Given the description of an element on the screen output the (x, y) to click on. 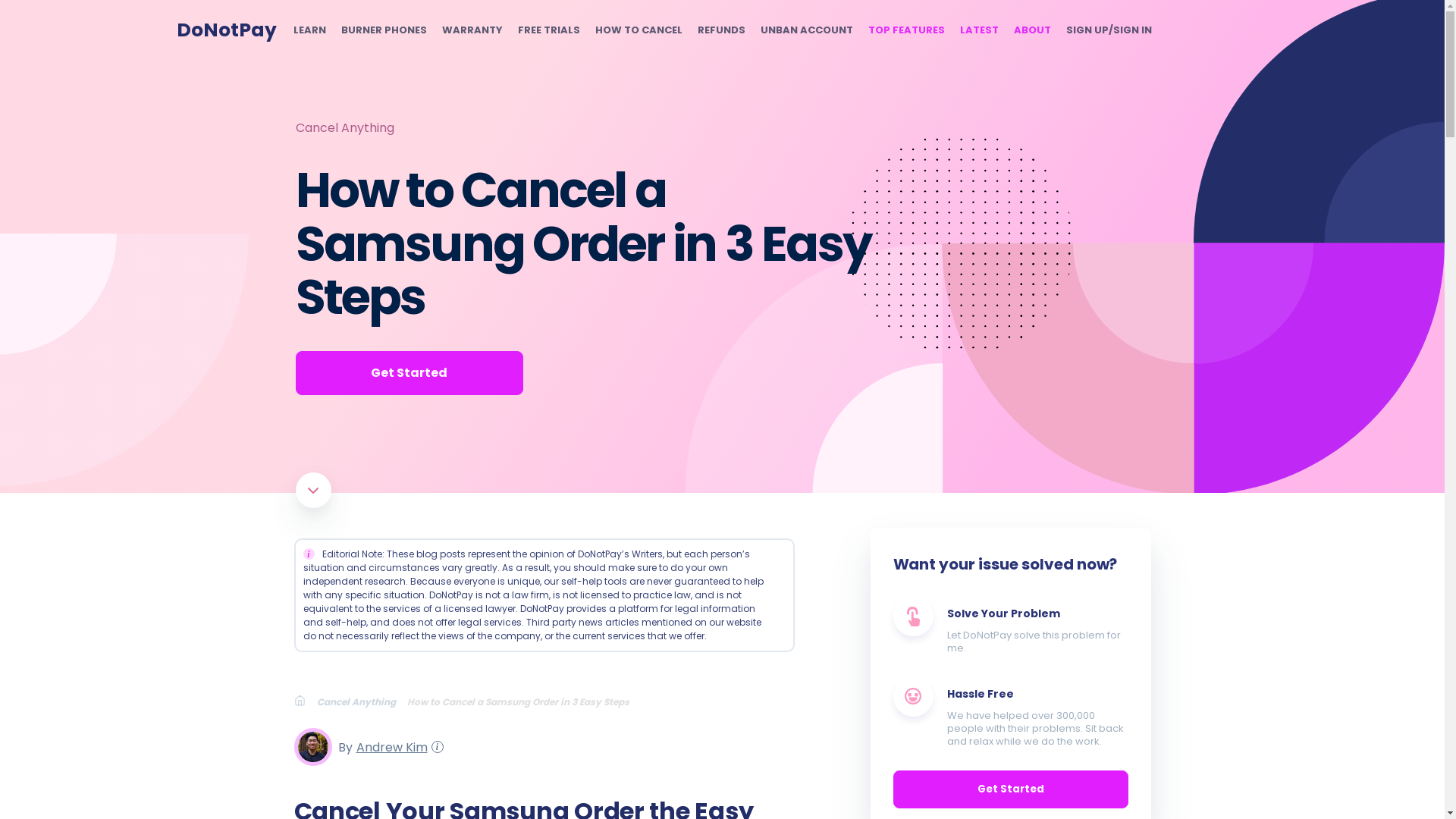
WARRANTY (471, 29)
BURNER PHONES (383, 29)
TOP FEATURES (905, 29)
LEARN (308, 29)
Andrew Kim (389, 746)
HOW TO CANCEL (637, 29)
FREE TRIALS (547, 29)
ABOUT (1031, 29)
LATEST (978, 29)
REFUNDS (721, 29)
Cancel Anything (362, 700)
DoNotPay (226, 29)
Get Started (408, 372)
Cancel Anything (344, 127)
UNBAN ACCOUNT (805, 29)
